Given the description of an element on the screen output the (x, y) to click on. 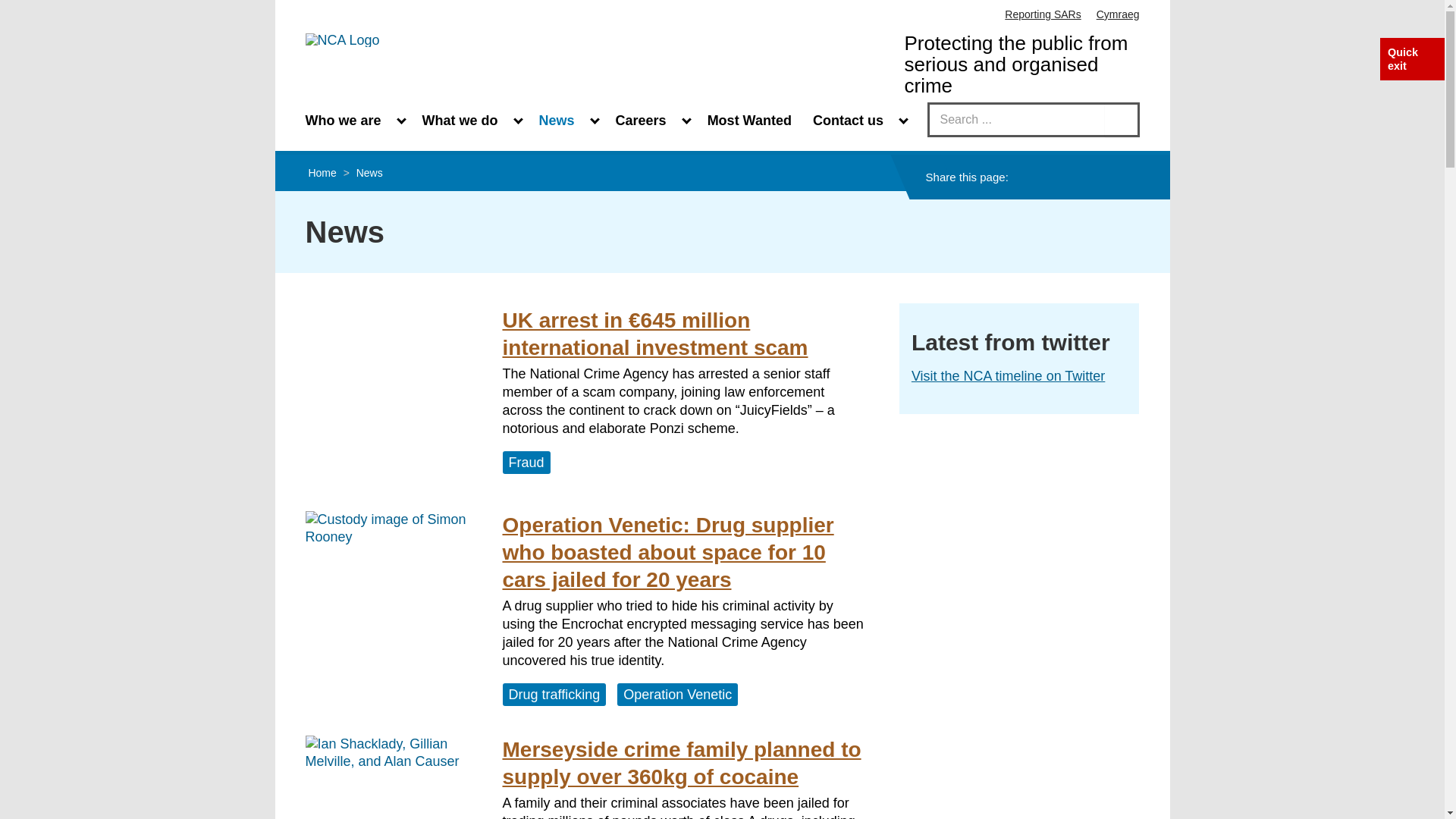
National Crime Agency (341, 39)
News (565, 118)
Reporting SARs (1042, 14)
Cymraeg (1118, 14)
Who we are (352, 118)
Go (1120, 119)
National Crime Agency (341, 39)
Quick exit (1402, 58)
Careers (649, 118)
What we do (468, 118)
